Given the description of an element on the screen output the (x, y) to click on. 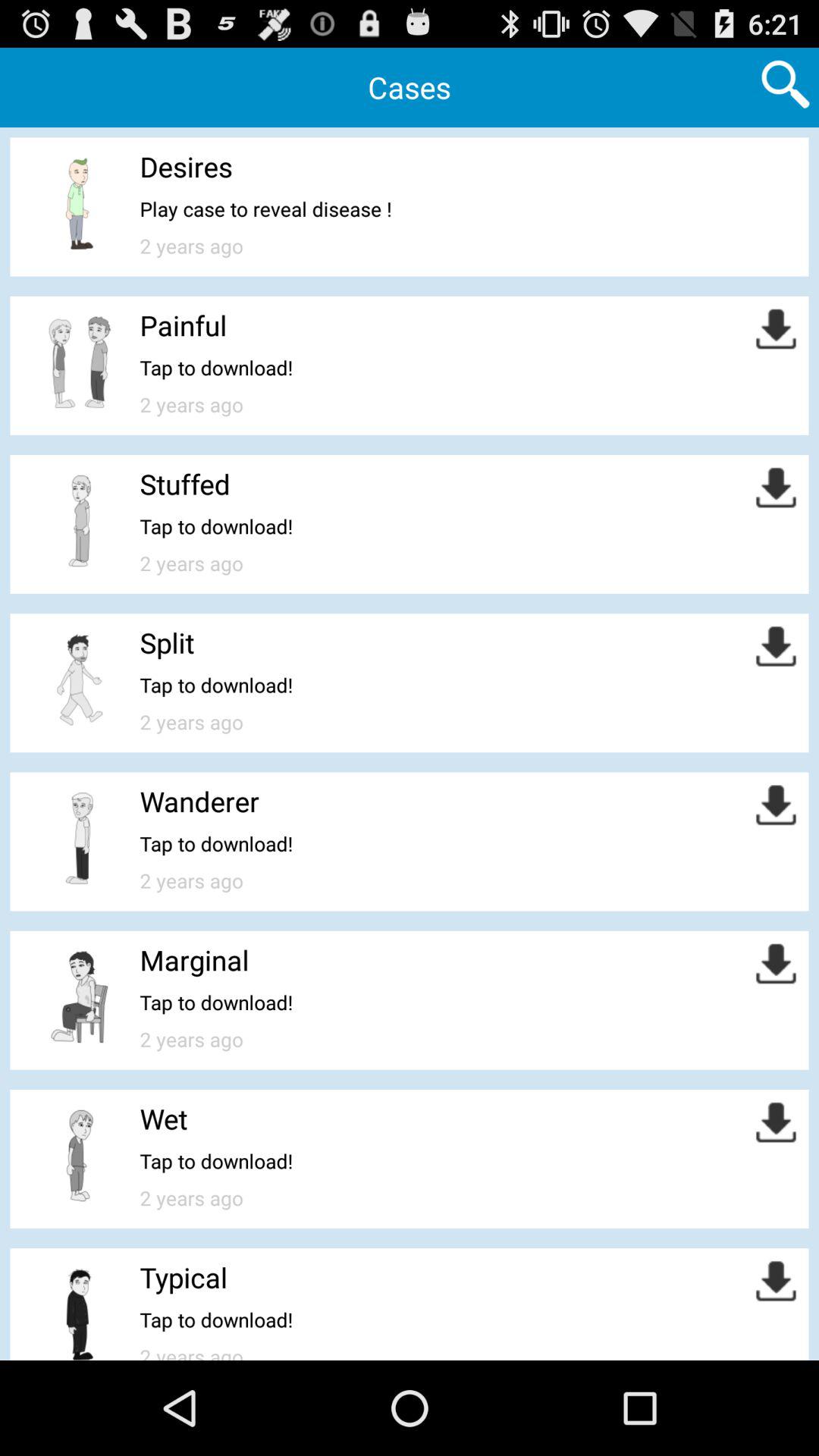
turn on the app below cases item (185, 166)
